Given the description of an element on the screen output the (x, y) to click on. 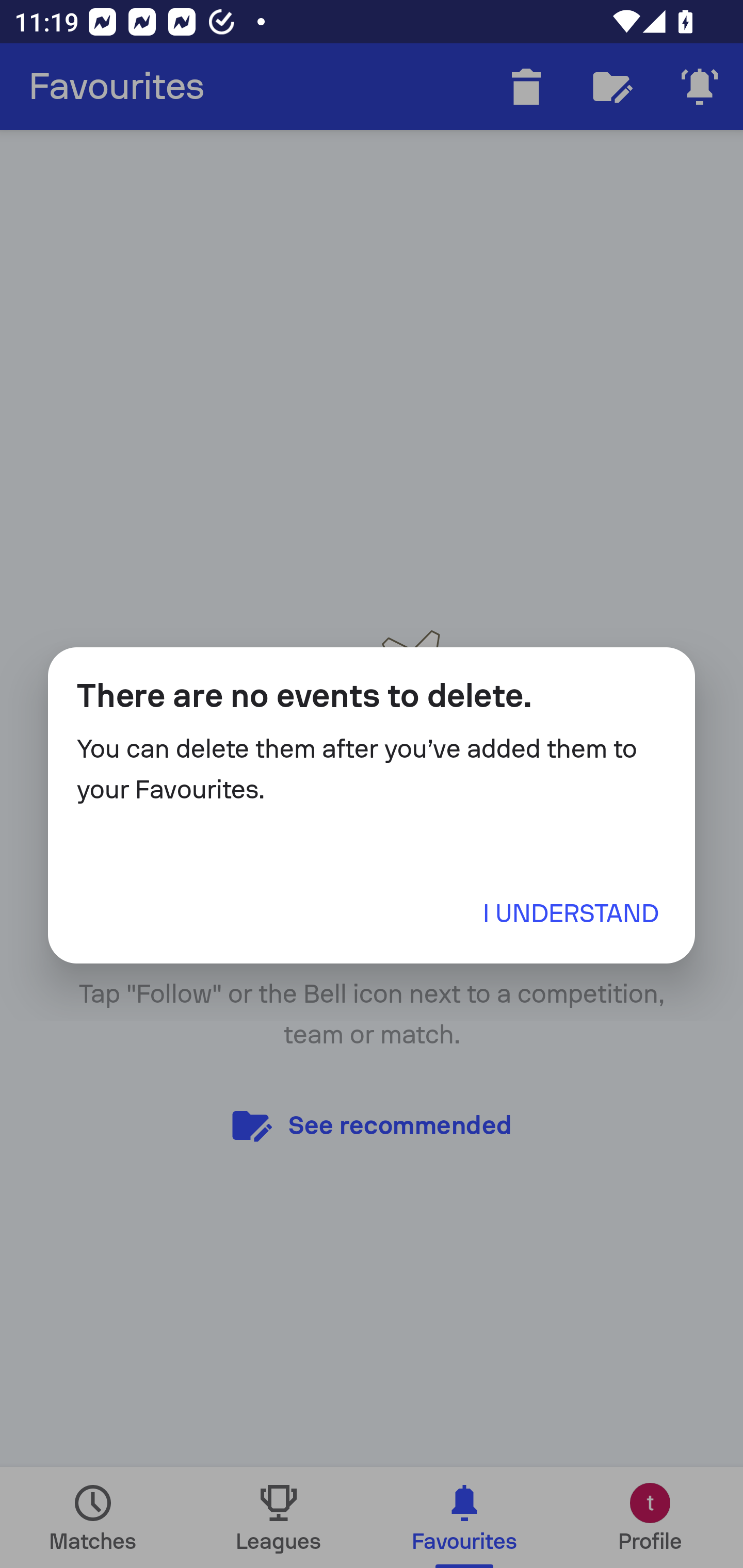
I UNDERSTAND (570, 913)
